Given the description of an element on the screen output the (x, y) to click on. 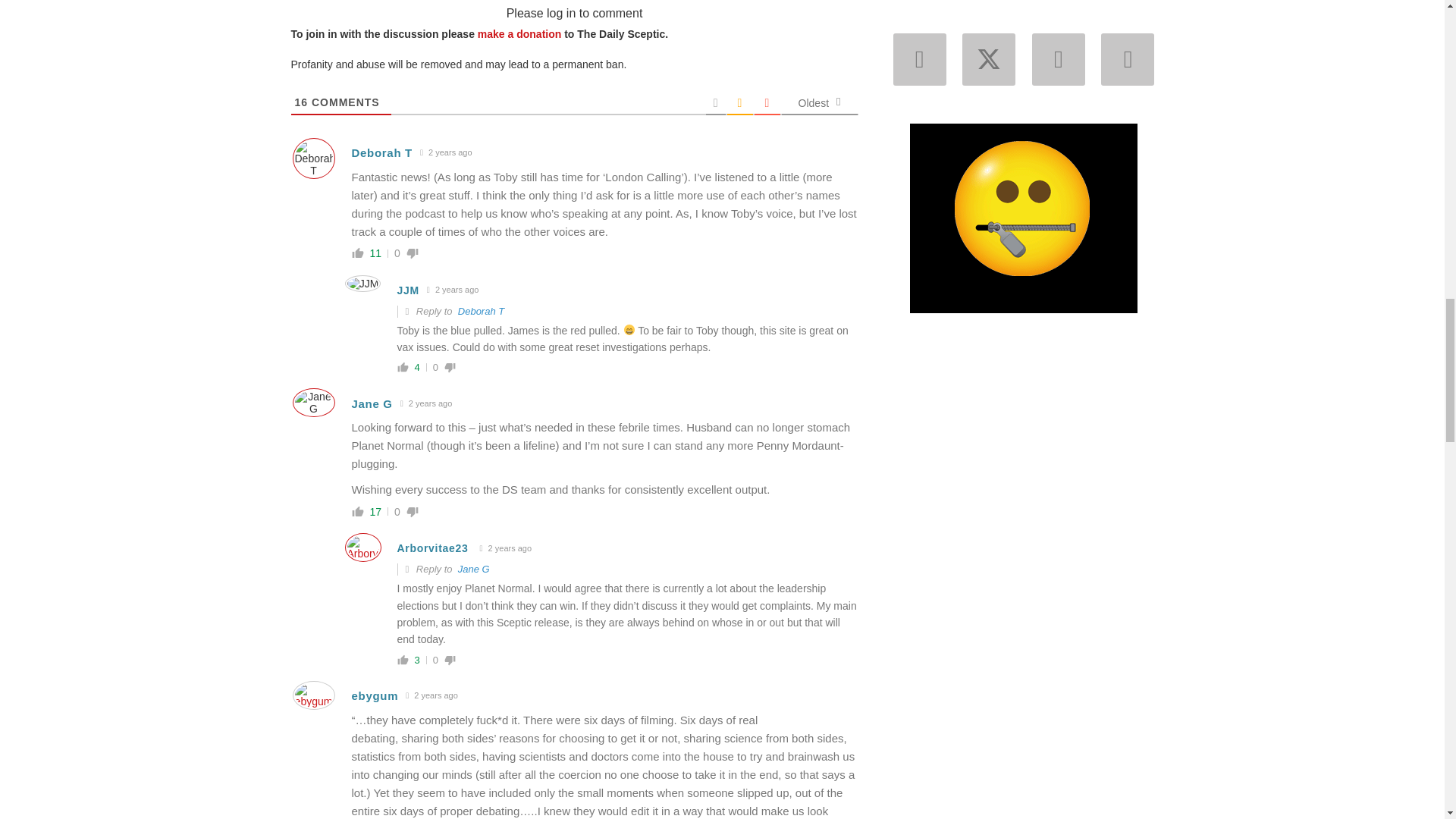
3 (416, 659)
20 July 2022 10:36 am (505, 548)
11 (376, 253)
21 July 2022 8:31 am (453, 289)
0 (397, 511)
0 (397, 253)
4 (416, 367)
17 (376, 511)
20 July 2022 7:56 am (446, 152)
Make a donation (518, 33)
20 July 2022 8:03 am (426, 403)
0 (435, 367)
16 (300, 102)
